Given the description of an element on the screen output the (x, y) to click on. 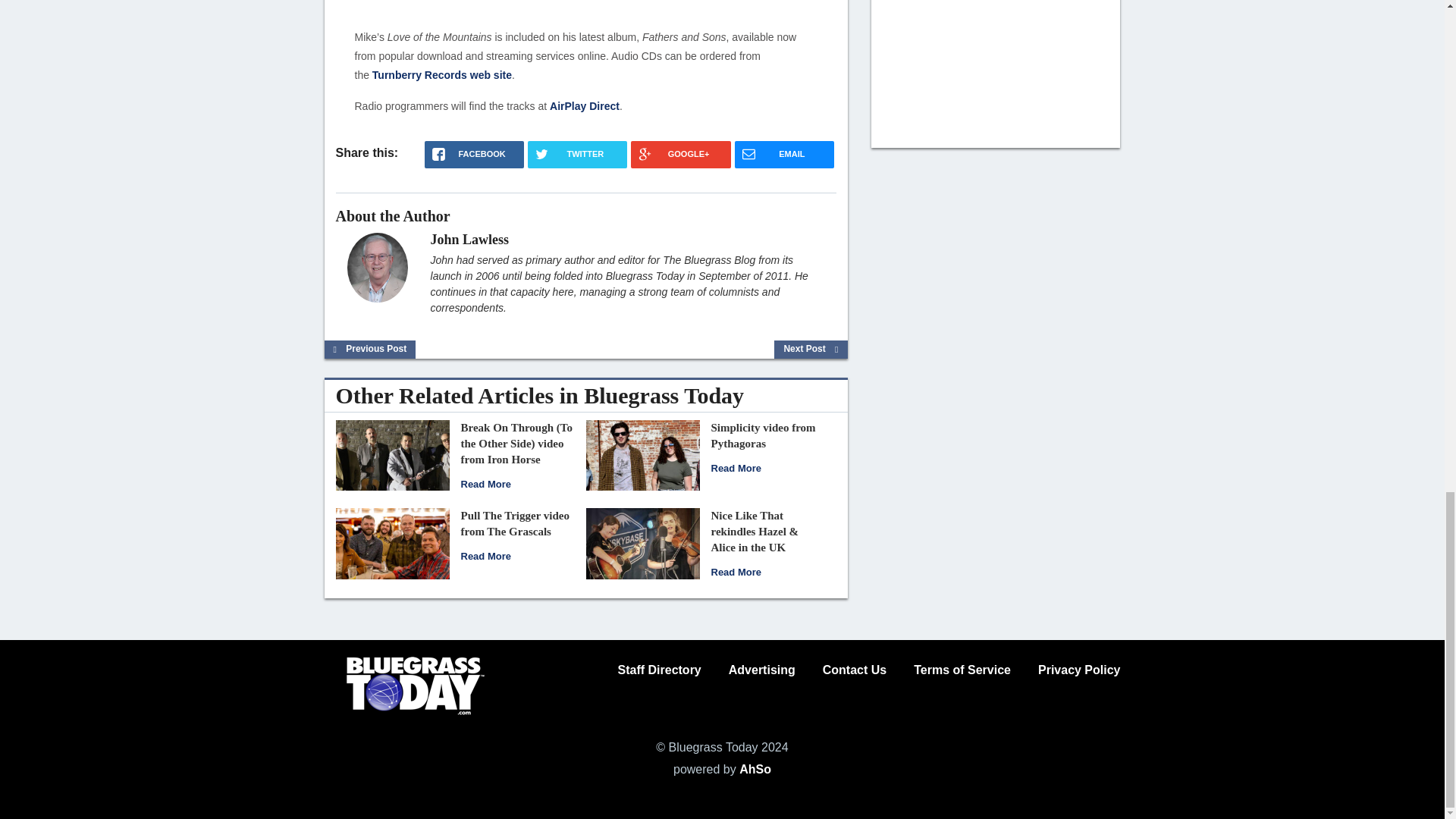
Simplicity video from Pythagoras (641, 454)
Simplicity video from Pythagoras (736, 468)
Pull The Trigger video from The Grascals (515, 523)
Love Of The Mountains (586, 5)
Pull The Trigger video from The Grascals (486, 555)
Simplicity video from Pythagoras (763, 435)
Turnberry Records web site (442, 74)
AirPlay Direct (585, 105)
FACEBOOK (474, 154)
Pull The Trigger video from The Grascals (391, 542)
TWITTER (577, 154)
